Given the description of an element on the screen output the (x, y) to click on. 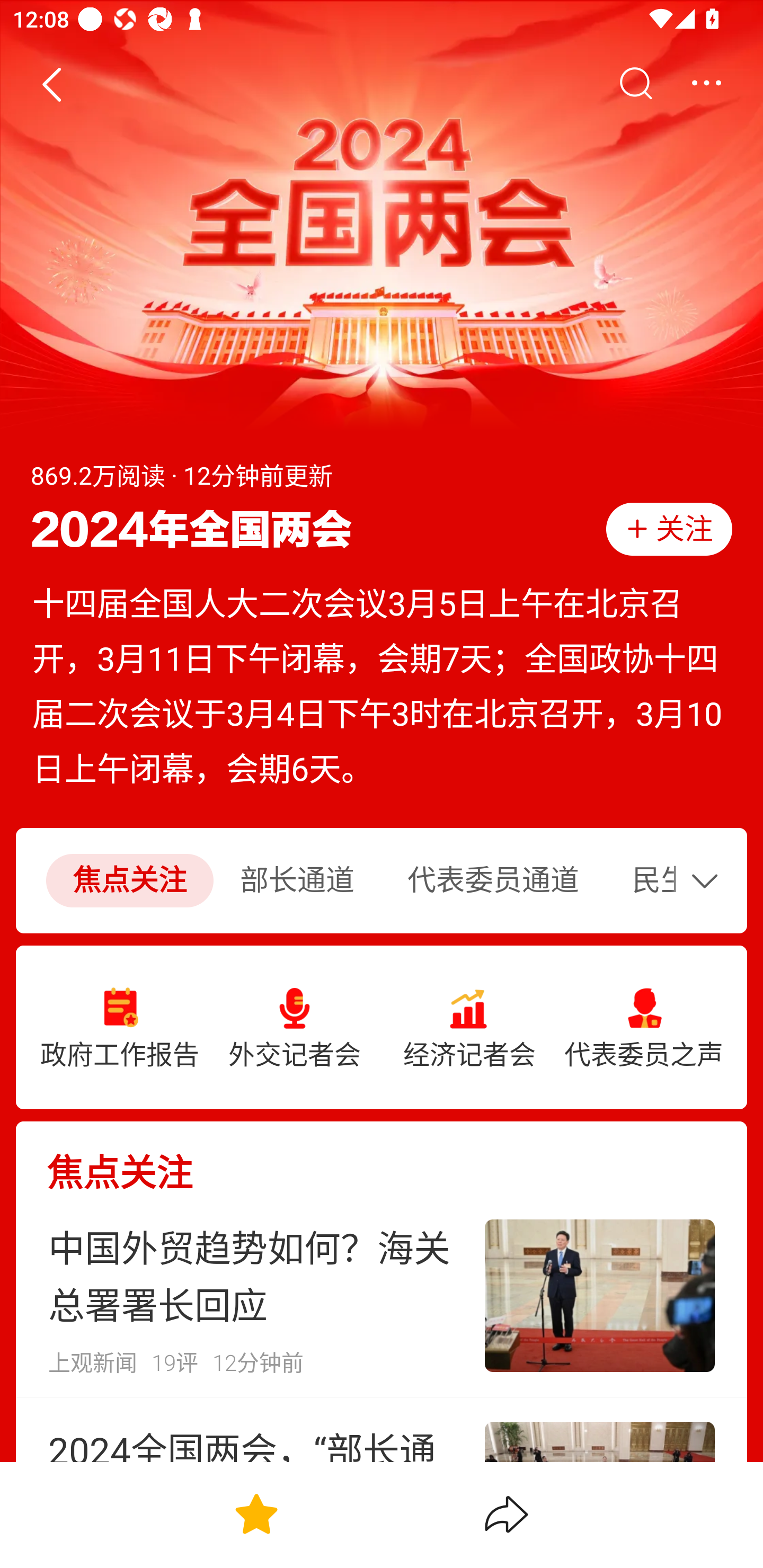
 (50, 83)
 (634, 83)
 (705, 83)
 关注 (668, 529)
焦点关注 (129, 880)
部长通道 (296, 880)
代表委员通道 (492, 880)
民生主题记者会 (642, 880)
 (708, 880)
政府工作报告 (119, 1027)
外交记者会 (294, 1027)
经济记者会 (469, 1027)
代表委员之声 (643, 1027)
焦点关注 (381, 1157)
中国外贸趋势如何？海关总署署长回应 上观新闻 19评 12分钟前 (381, 1295)
收藏  (255, 1514)
分享  (506, 1514)
